Given the description of an element on the screen output the (x, y) to click on. 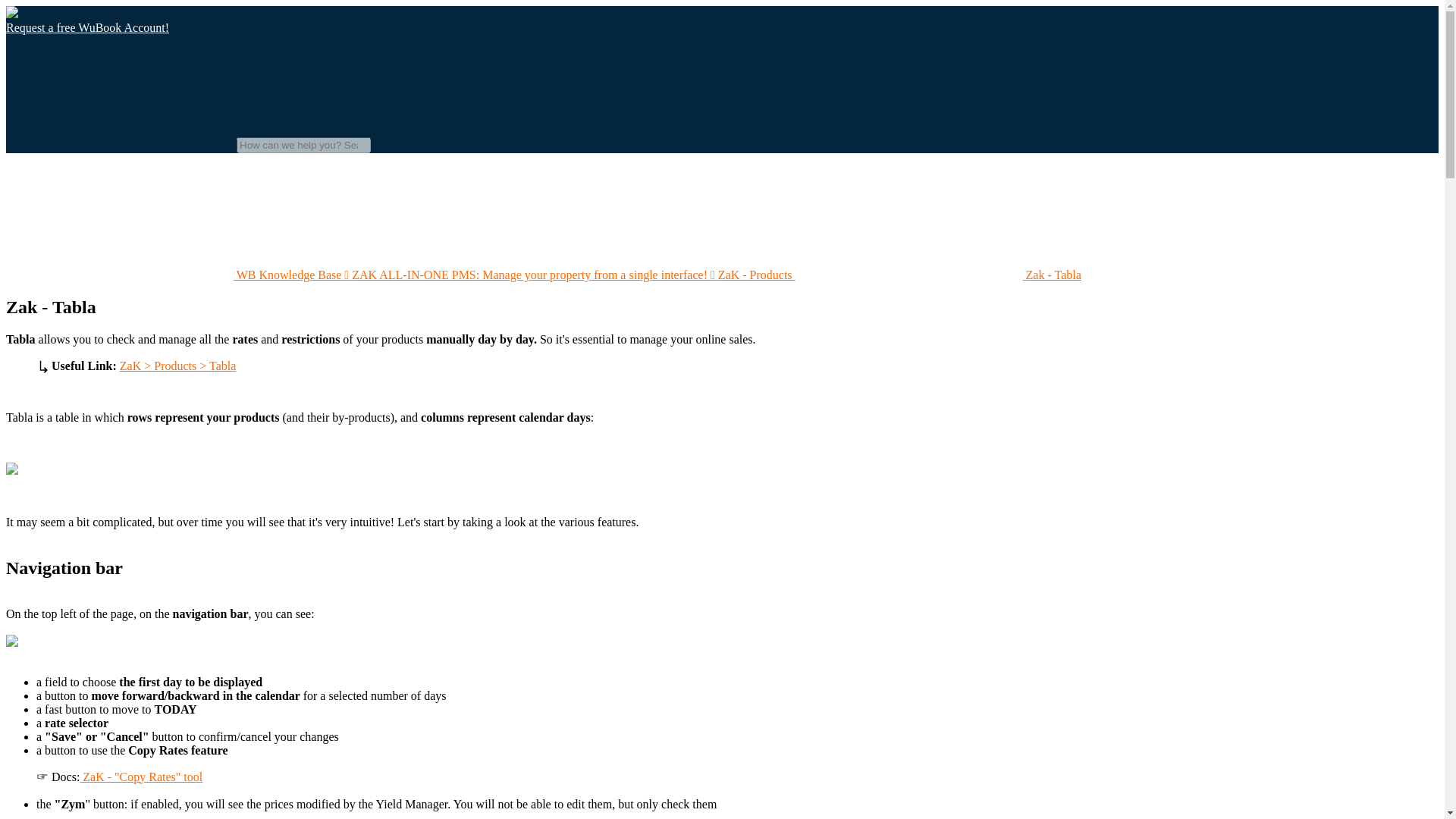
Request a free WuBook Account! (86, 27)
ZaK - "Copy Rates" tool (141, 776)
WB Knowledge Base (174, 274)
Zak - Tabla (937, 274)
